Given the description of an element on the screen output the (x, y) to click on. 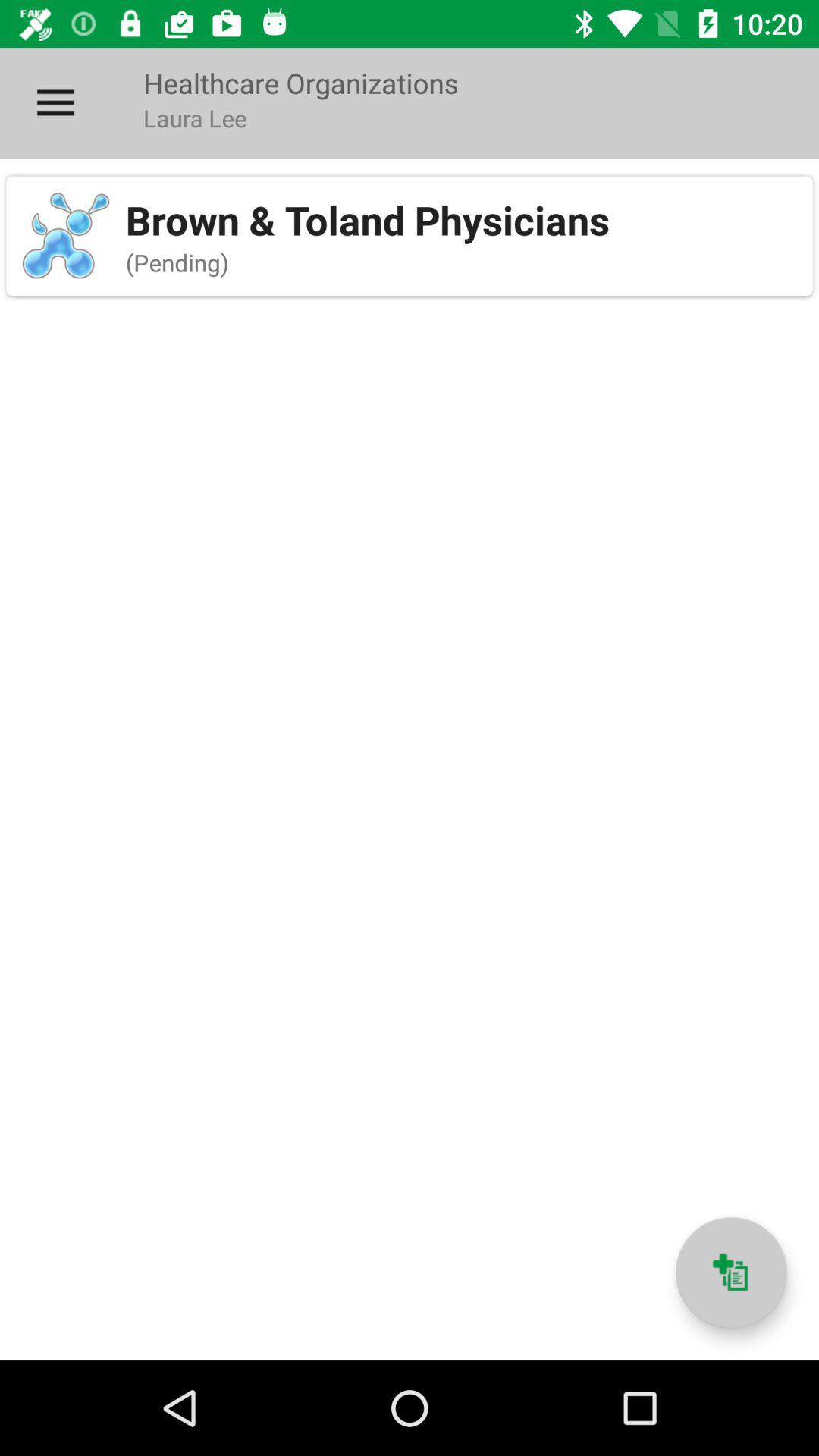
add new (731, 1272)
